Given the description of an element on the screen output the (x, y) to click on. 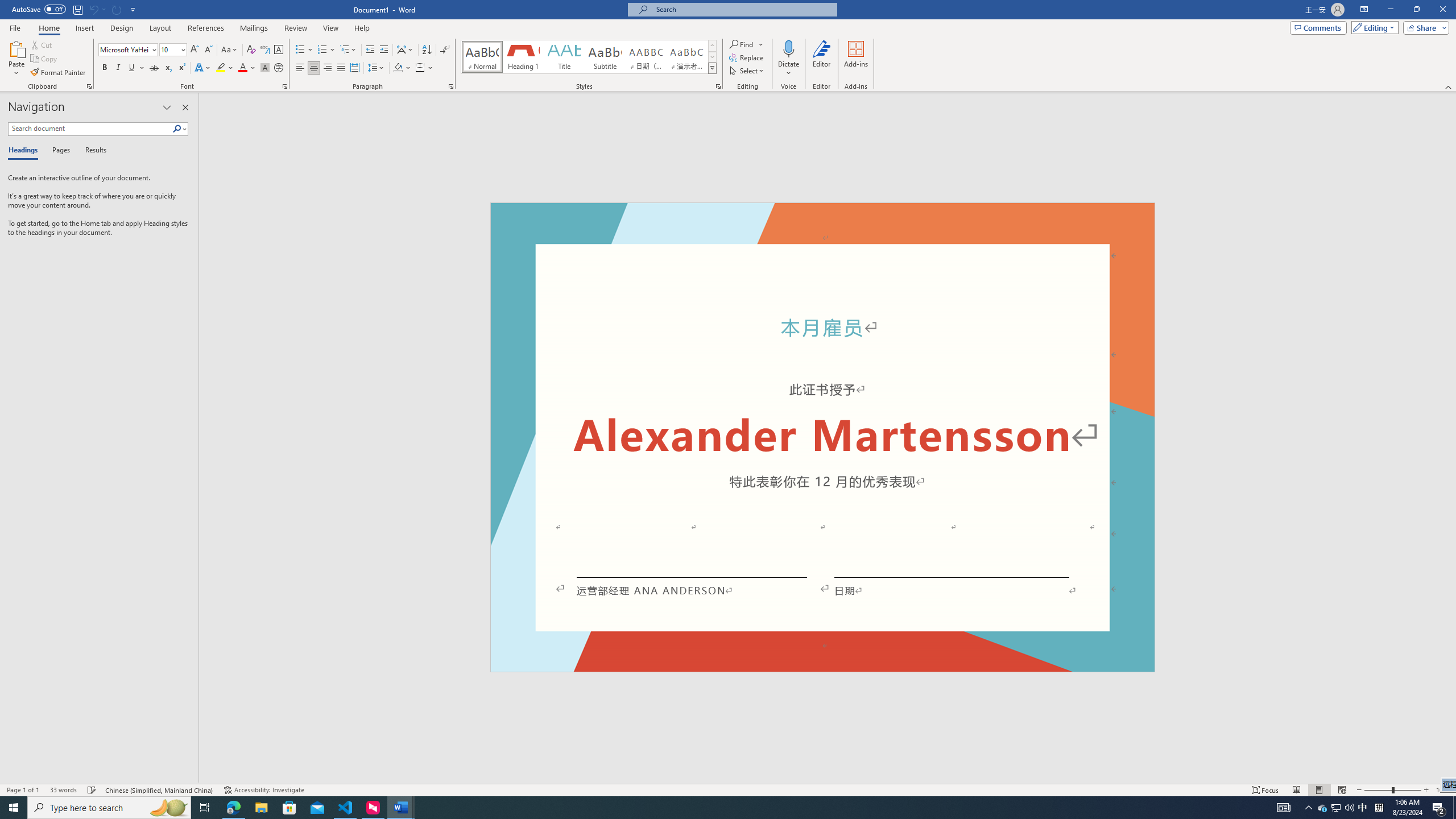
Clear Formatting (250, 49)
Format Painter (58, 72)
Copy (45, 58)
Results (91, 150)
Asian Layout (405, 49)
Phonetic Guide... (264, 49)
Office Clipboard... (88, 85)
Distributed (354, 67)
